Given the description of an element on the screen output the (x, y) to click on. 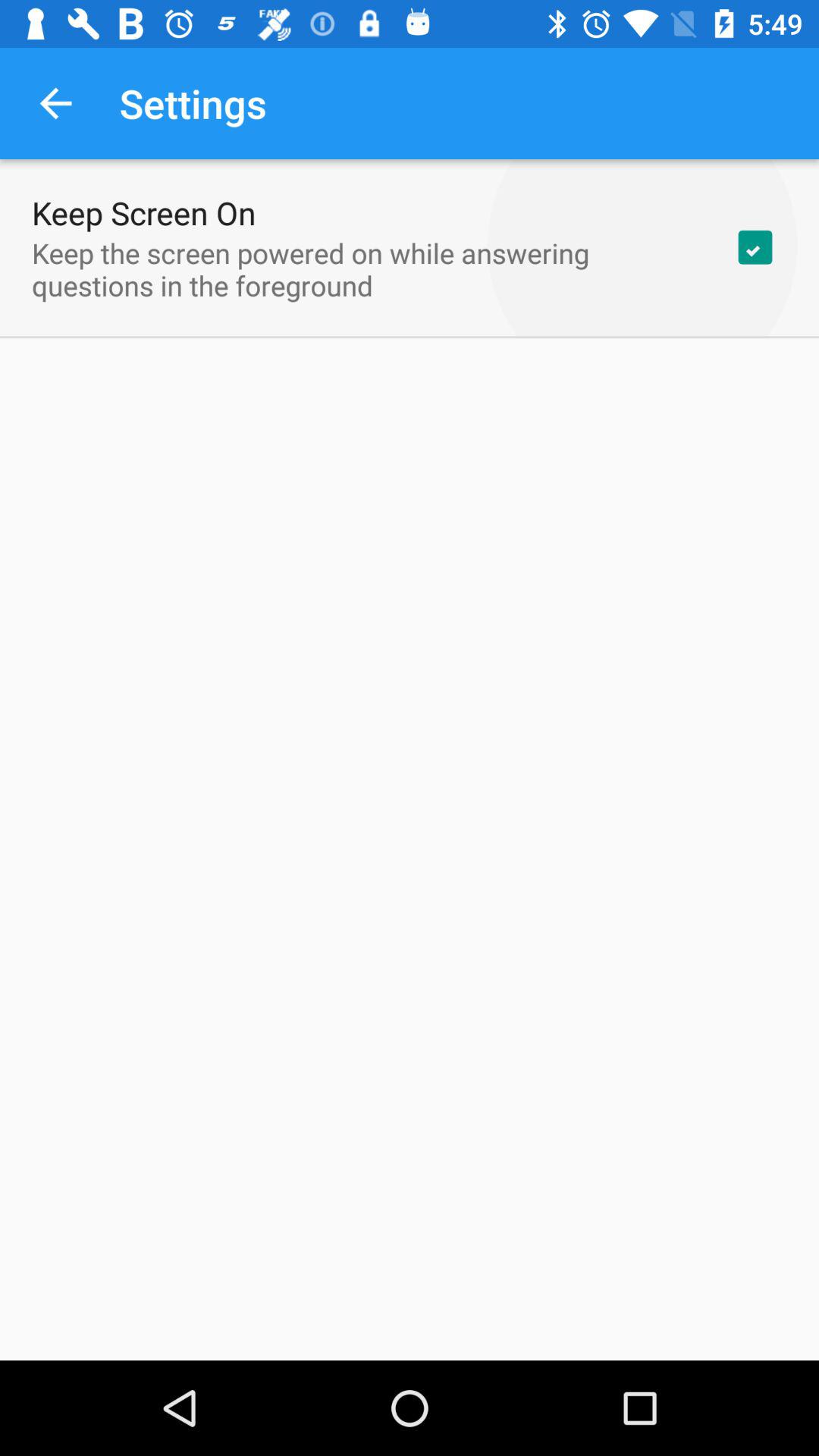
turn on icon at the top right corner (755, 247)
